Given the description of an element on the screen output the (x, y) to click on. 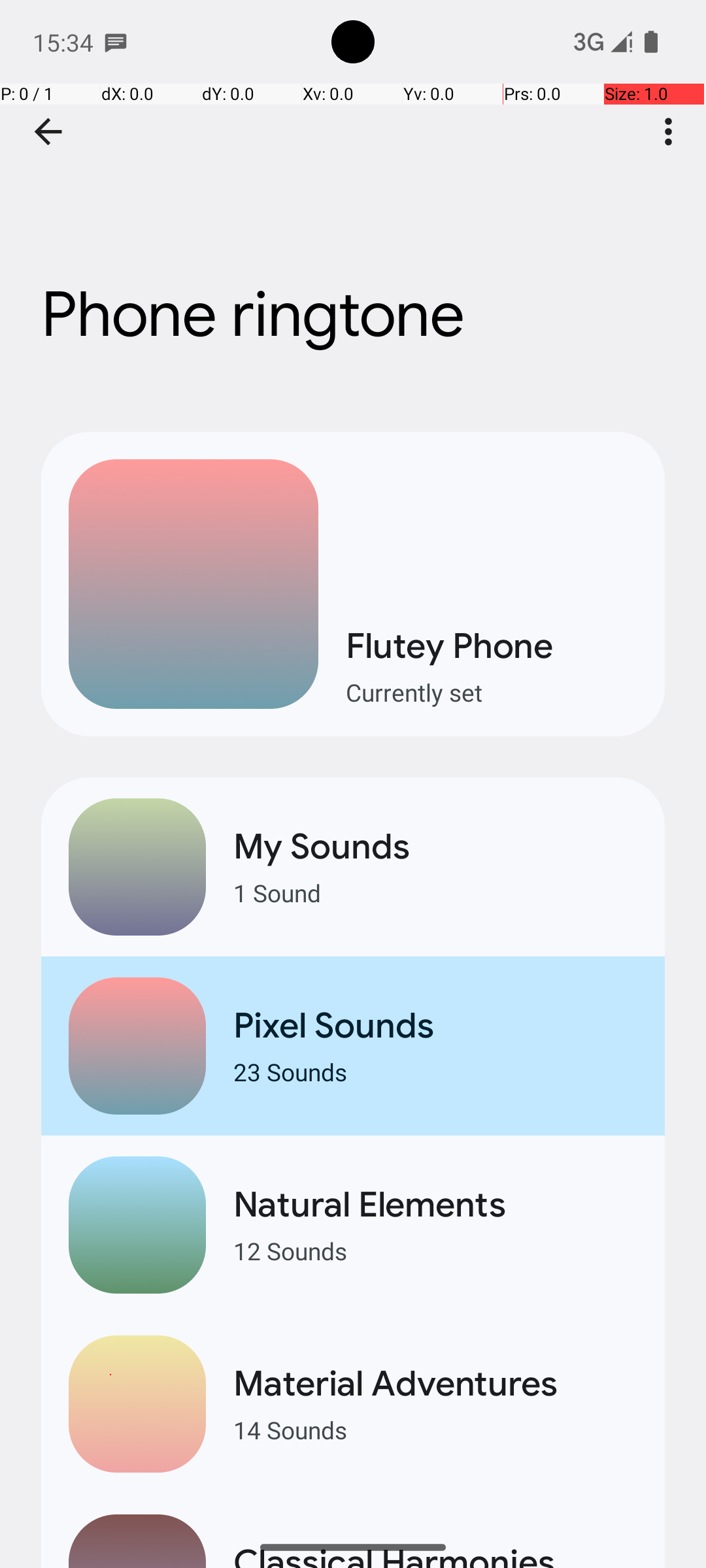
Phone ringtone Element type: android.widget.FrameLayout (353, 195)
Flutey Phone Element type: android.widget.TextView (491, 645)
Currently set Element type: android.widget.TextView (491, 691)
My Sounds Element type: android.widget.TextView (435, 846)
1 Sound Element type: android.widget.TextView (435, 892)
Pixel Sounds Element type: android.widget.TextView (435, 1025)
23 Sounds Element type: android.widget.TextView (435, 1071)
Natural Elements Element type: android.widget.TextView (435, 1204)
Material Adventures Element type: android.widget.TextView (435, 1383)
Classical Harmonies Element type: android.widget.TextView (435, 1554)
